Given the description of an element on the screen output the (x, y) to click on. 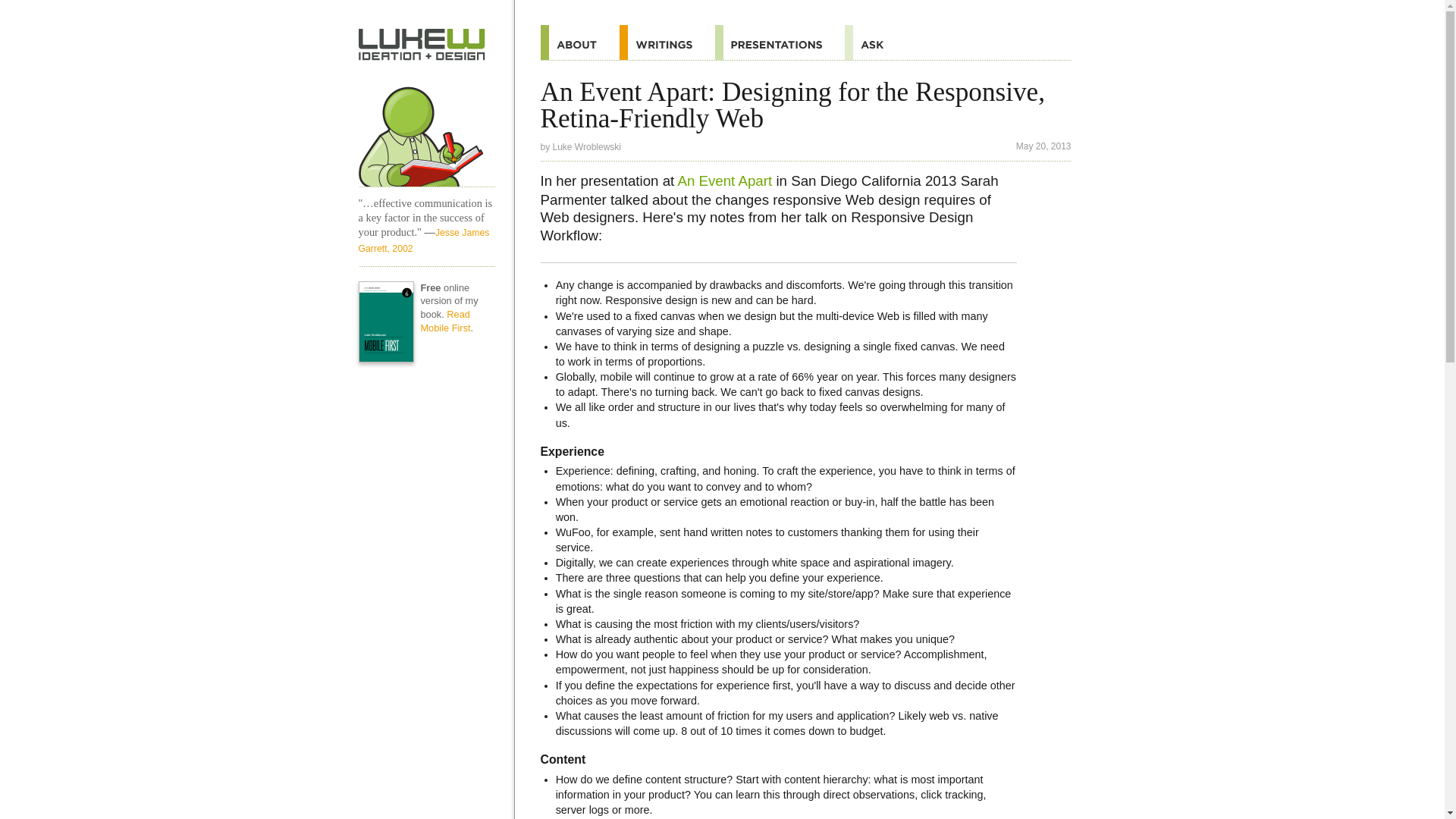
Jesse James Garrett, 2002 (423, 240)
Read Mobile First (445, 320)
An Event Apart (724, 180)
Quotes (666, 42)
Home (421, 44)
Home (426, 129)
About (579, 42)
Presentations (779, 42)
Luke Wroblewski (587, 146)
Ask (874, 42)
